Given the description of an element on the screen output the (x, y) to click on. 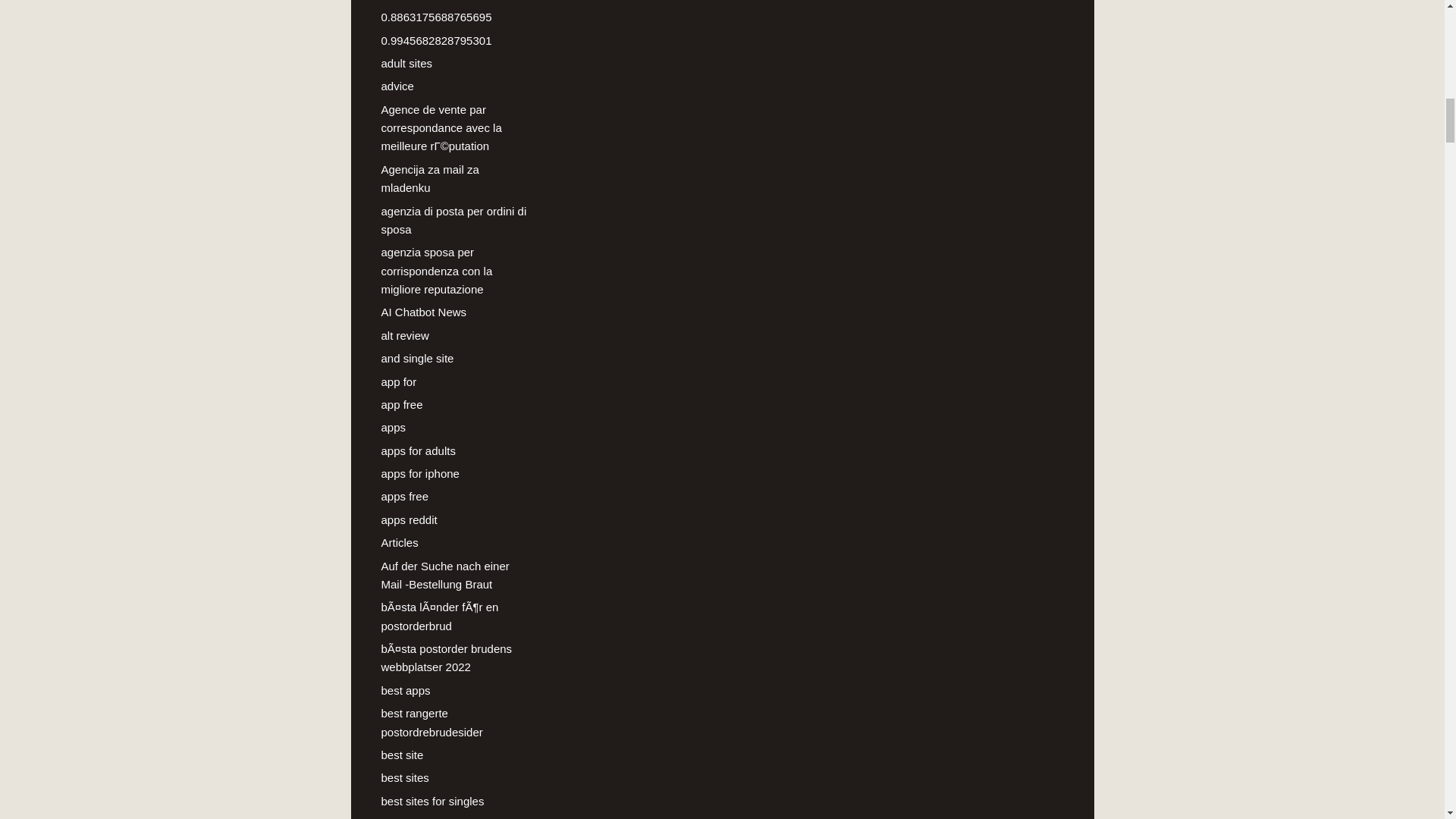
Agencija za mail za mladenku (429, 178)
app for (398, 381)
advice (396, 85)
apps for iphone (419, 472)
apps for adults (417, 450)
agenzia sposa per corrispondenza con la migliore reputazione (436, 270)
0.8863175688765695 (436, 16)
AI Chatbot News (422, 311)
alt review (404, 335)
agenzia di posta per ordini di sposa (452, 219)
app free (401, 404)
and single site (416, 358)
adult sites (406, 62)
apps (393, 427)
